Given the description of an element on the screen output the (x, y) to click on. 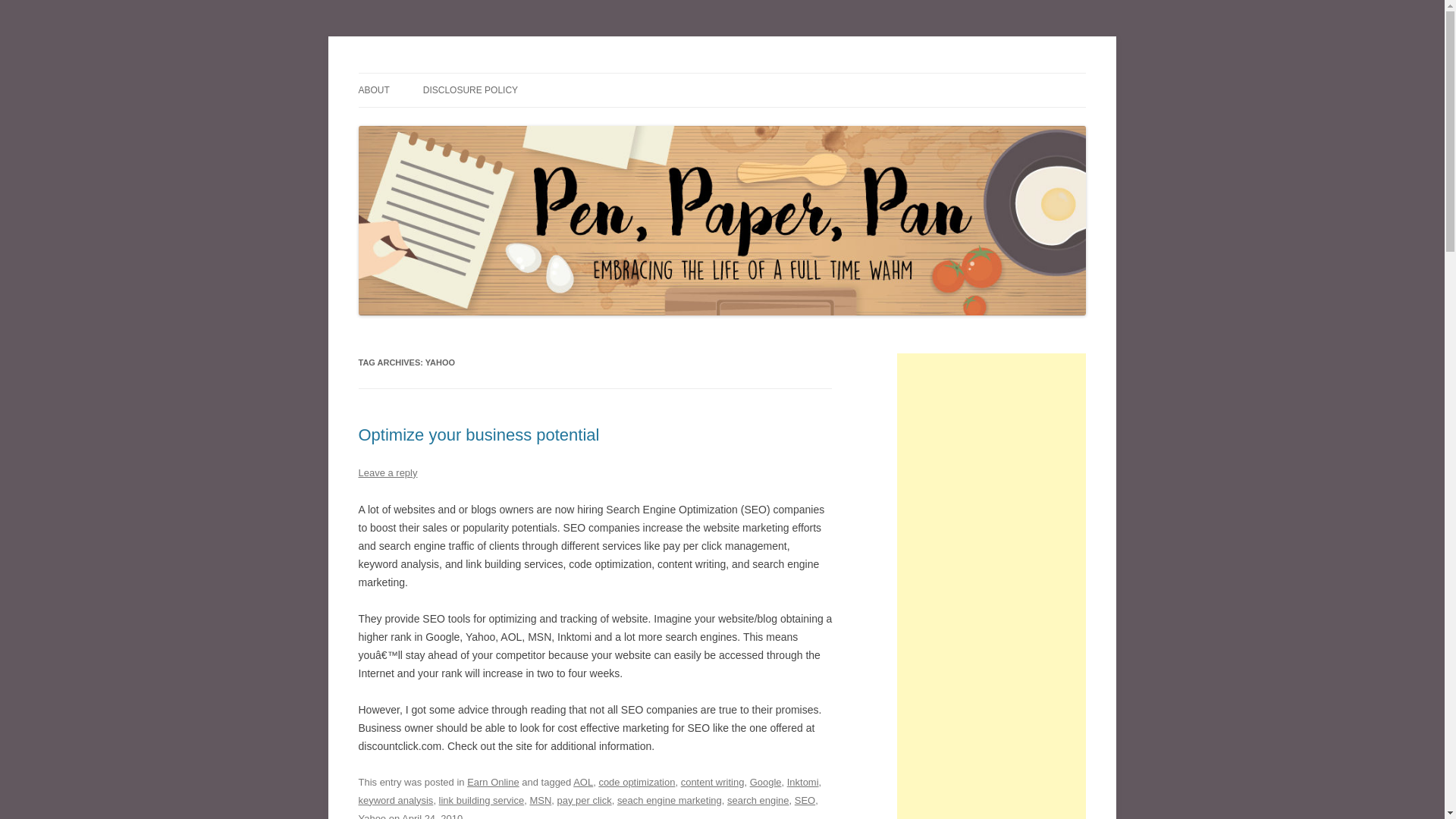
Leave a reply (387, 472)
DISCLOSURE POLICY (470, 90)
content writing (712, 781)
Pen, Paper, Pan (431, 72)
code optimization (636, 781)
4:56 am (432, 816)
ABOUT (373, 90)
AOL (582, 781)
keyword analysis (395, 799)
Yahoo (371, 816)
seach engine marketing (669, 799)
SEO (804, 799)
MSN (540, 799)
Advertisement (991, 813)
